Given the description of an element on the screen output the (x, y) to click on. 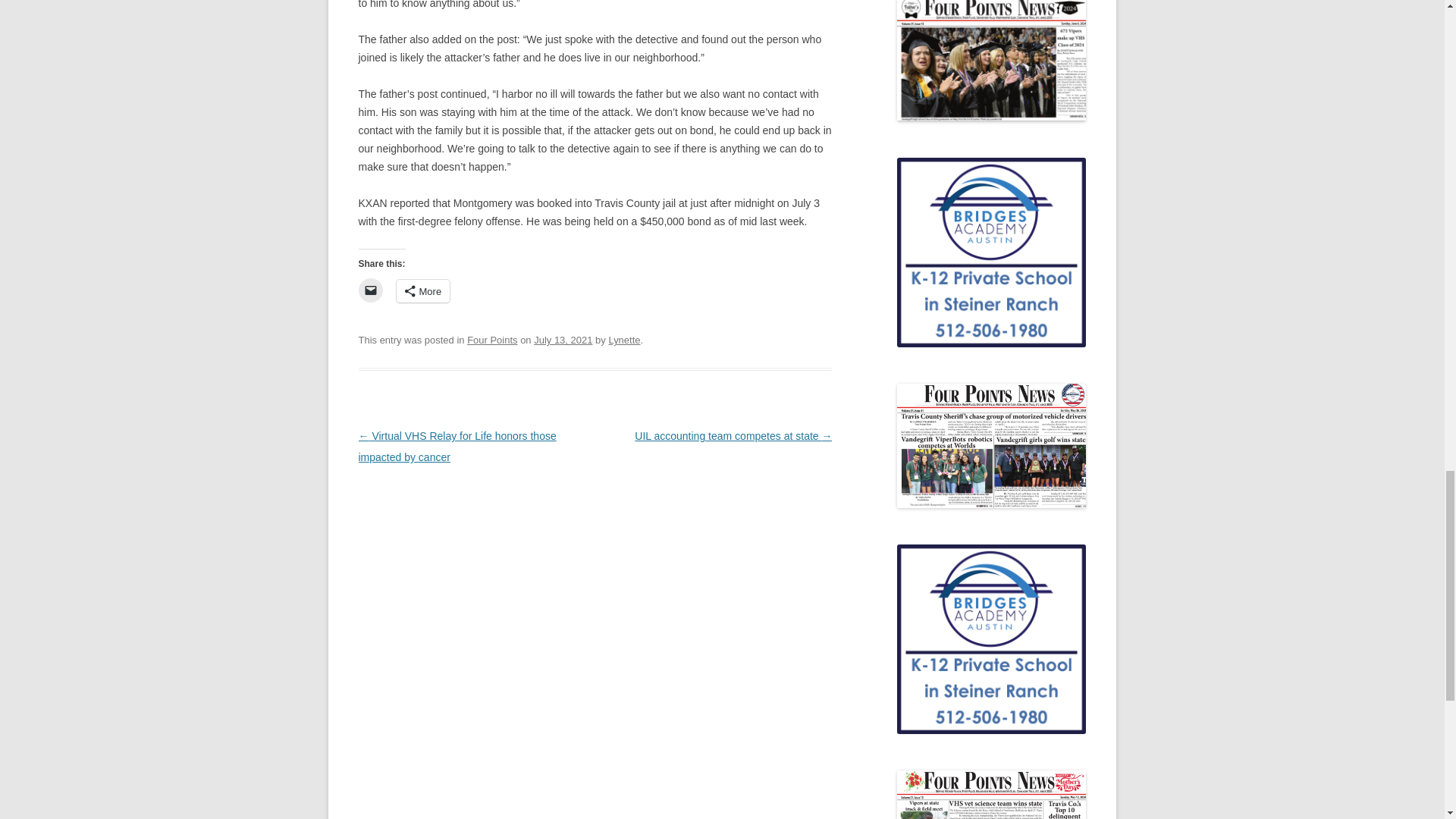
Lynette (624, 339)
More (422, 291)
View all posts by Lynette (624, 339)
July 13, 2021 (563, 339)
Click to email a link to a friend (369, 290)
Four Points (491, 339)
8:23 am (563, 339)
